Given the description of an element on the screen output the (x, y) to click on. 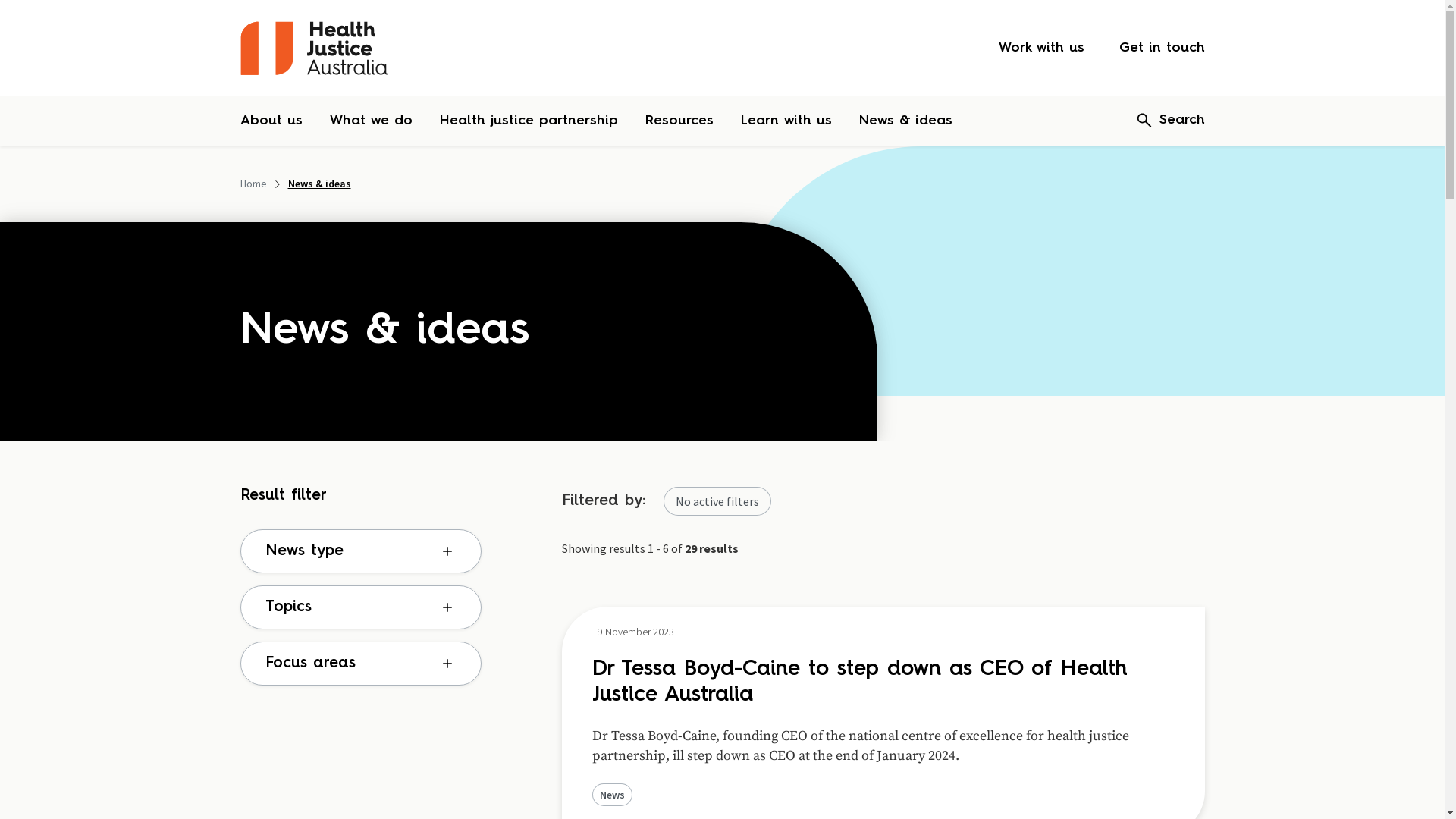
Search Element type: text (1169, 121)
News & ideas Element type: text (904, 121)
What we do Element type: text (370, 121)
News type Element type: text (359, 551)
Health justice partnership Element type: text (528, 121)
Focus areas Element type: text (359, 663)
Get in touch Element type: text (1161, 48)
Topics Element type: text (359, 607)
Resources Element type: text (678, 121)
About us Element type: text (270, 121)
Learn with us Element type: text (785, 121)
No active filters Element type: text (716, 500)
Work with us Element type: text (1040, 48)
Home Element type: text (252, 183)
